Given the description of an element on the screen output the (x, y) to click on. 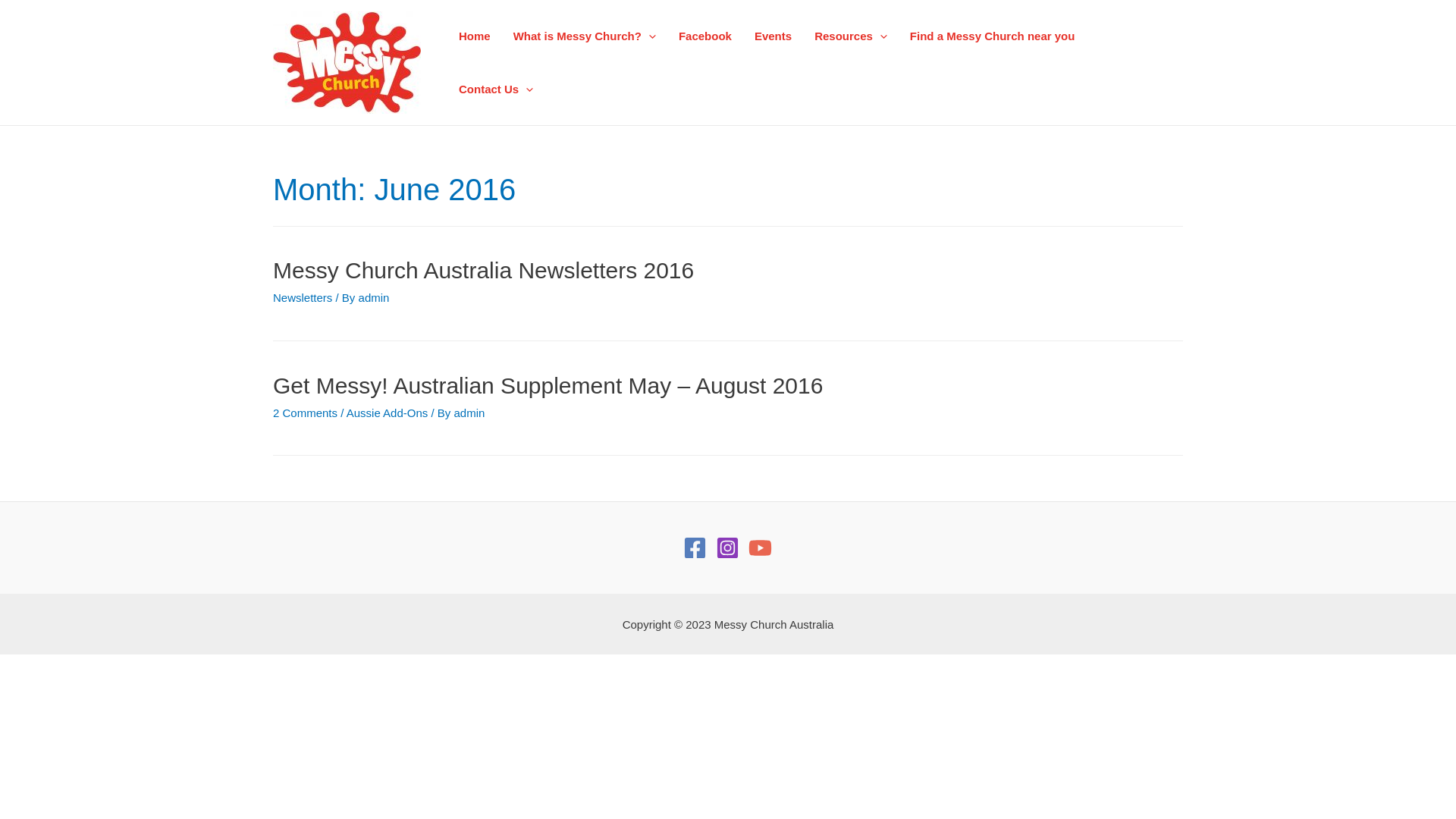
Aussie Add-Ons Element type: text (387, 412)
Contact Us Element type: text (495, 88)
Events Element type: text (773, 35)
admin Element type: text (468, 412)
What is Messy Church? Element type: text (584, 35)
Facebook Element type: text (705, 35)
Resources Element type: text (850, 35)
2 Comments Element type: text (305, 412)
Find a Messy Church near you Element type: text (992, 35)
admin Element type: text (373, 297)
Messy Church Australia Newsletters 2016 Element type: text (483, 269)
Home Element type: text (474, 35)
Newsletters Element type: text (302, 297)
